Given the description of an element on the screen output the (x, y) to click on. 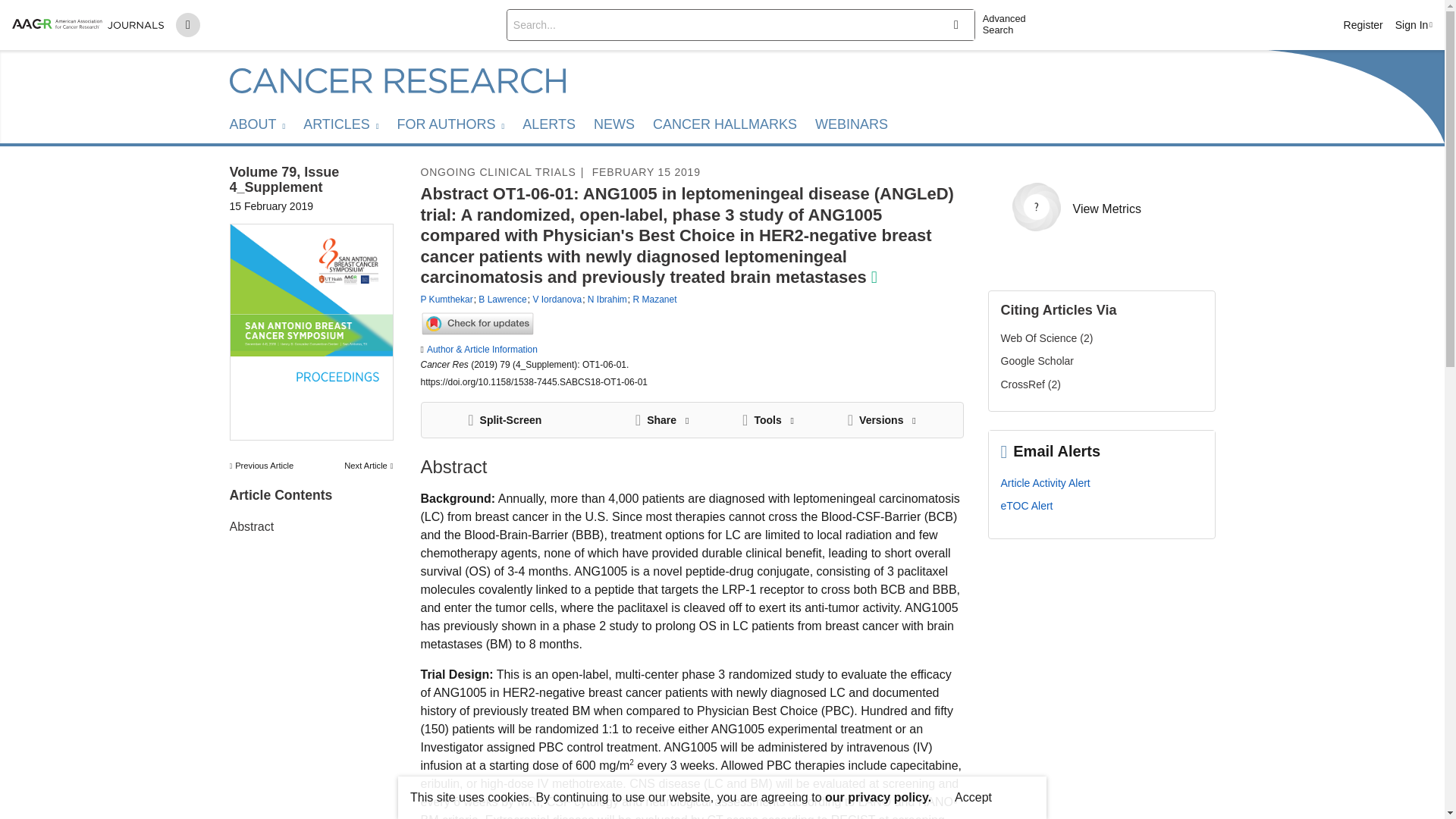
Free (873, 277)
Abstract (250, 526)
Sign In (1413, 24)
Register (1363, 24)
search input (718, 24)
Advanced Search (1009, 24)
